Given the description of an element on the screen output the (x, y) to click on. 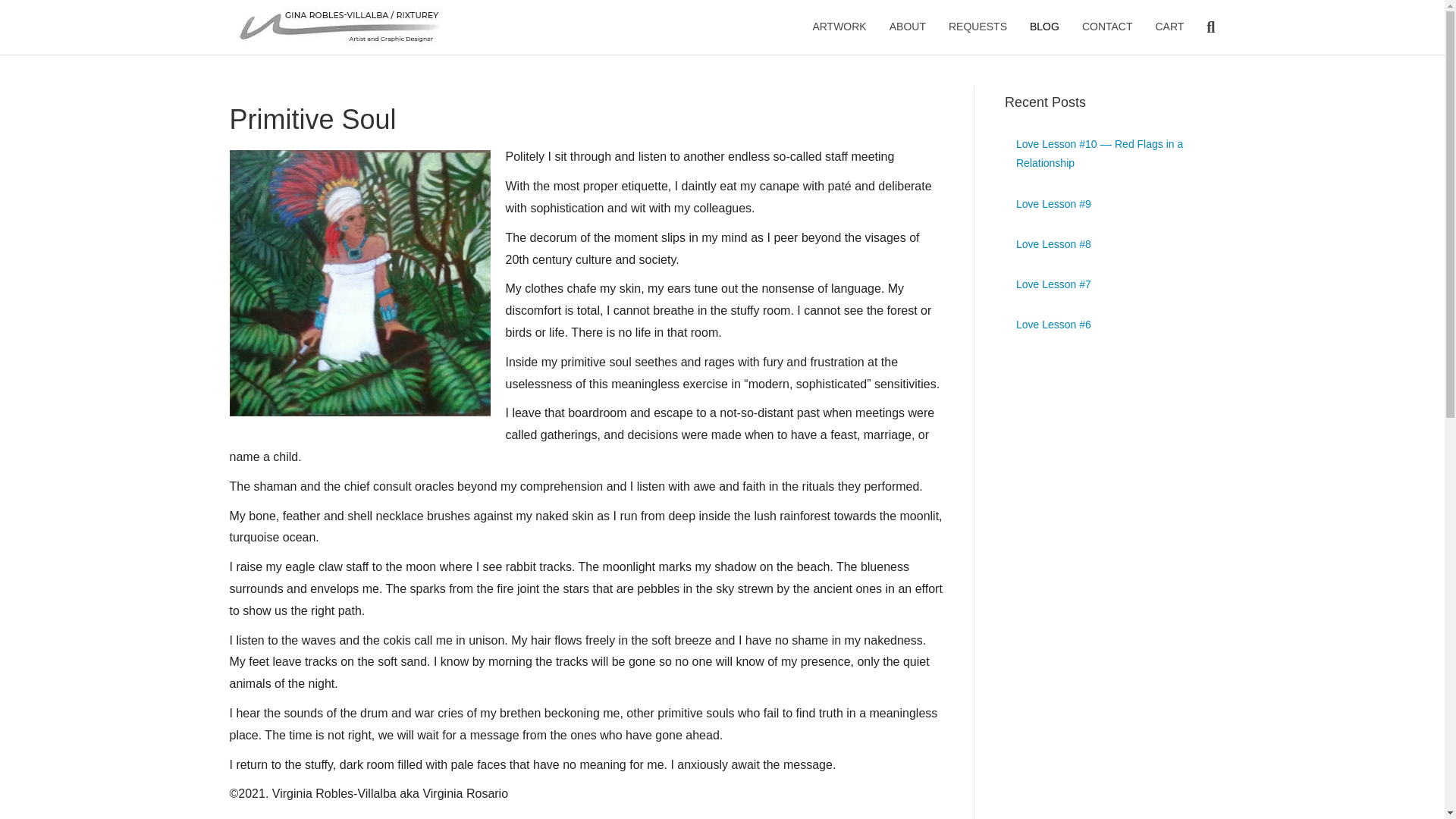
BLOG (1043, 26)
ABOUT (907, 26)
ARTWORK (838, 26)
REQUESTS (977, 26)
CONTACT (1107, 26)
CART (1168, 26)
